Given the description of an element on the screen output the (x, y) to click on. 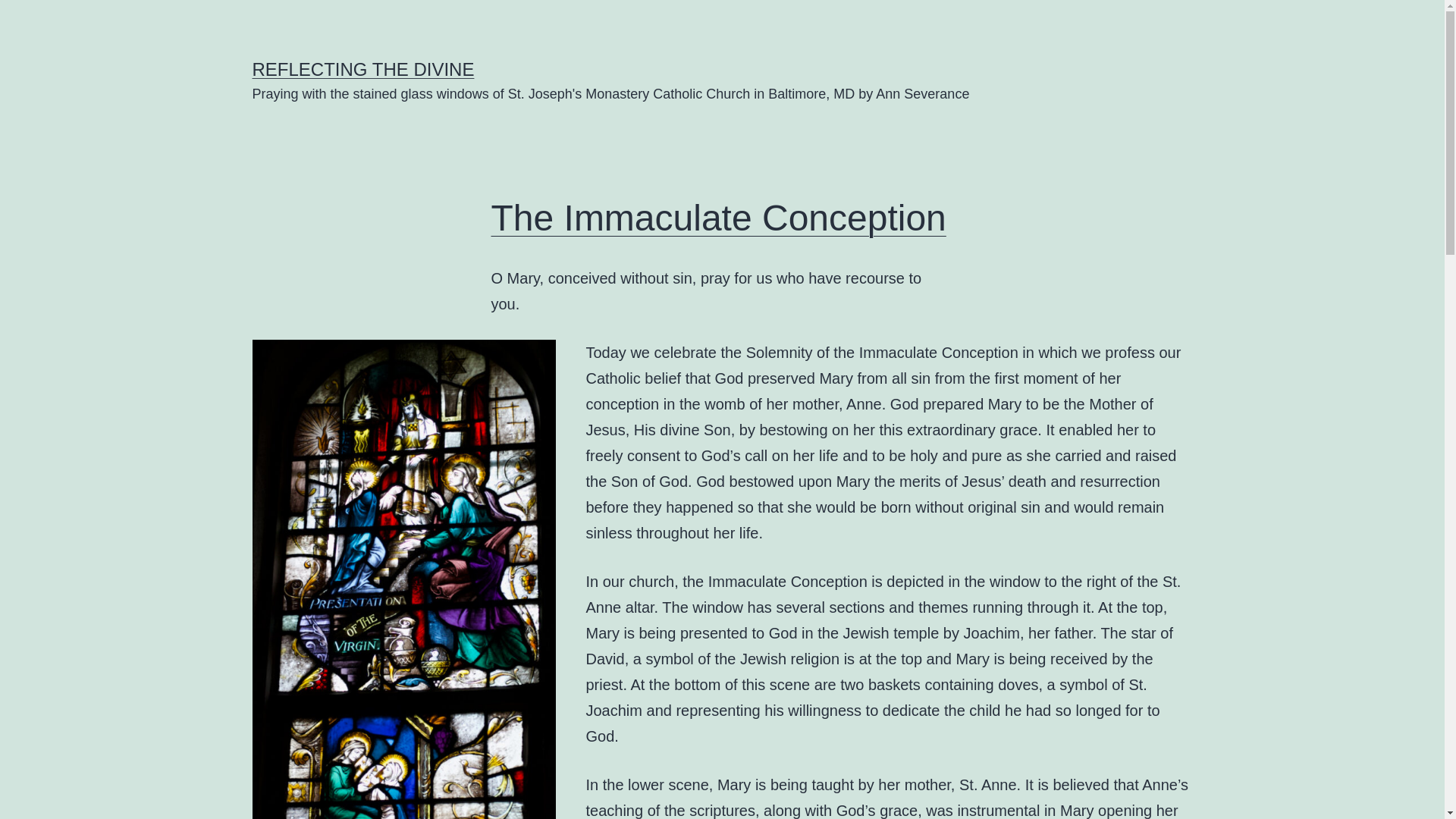
REFLECTING THE DIVINE (362, 68)
The Immaculate Conception (719, 218)
